Given the description of an element on the screen output the (x, y) to click on. 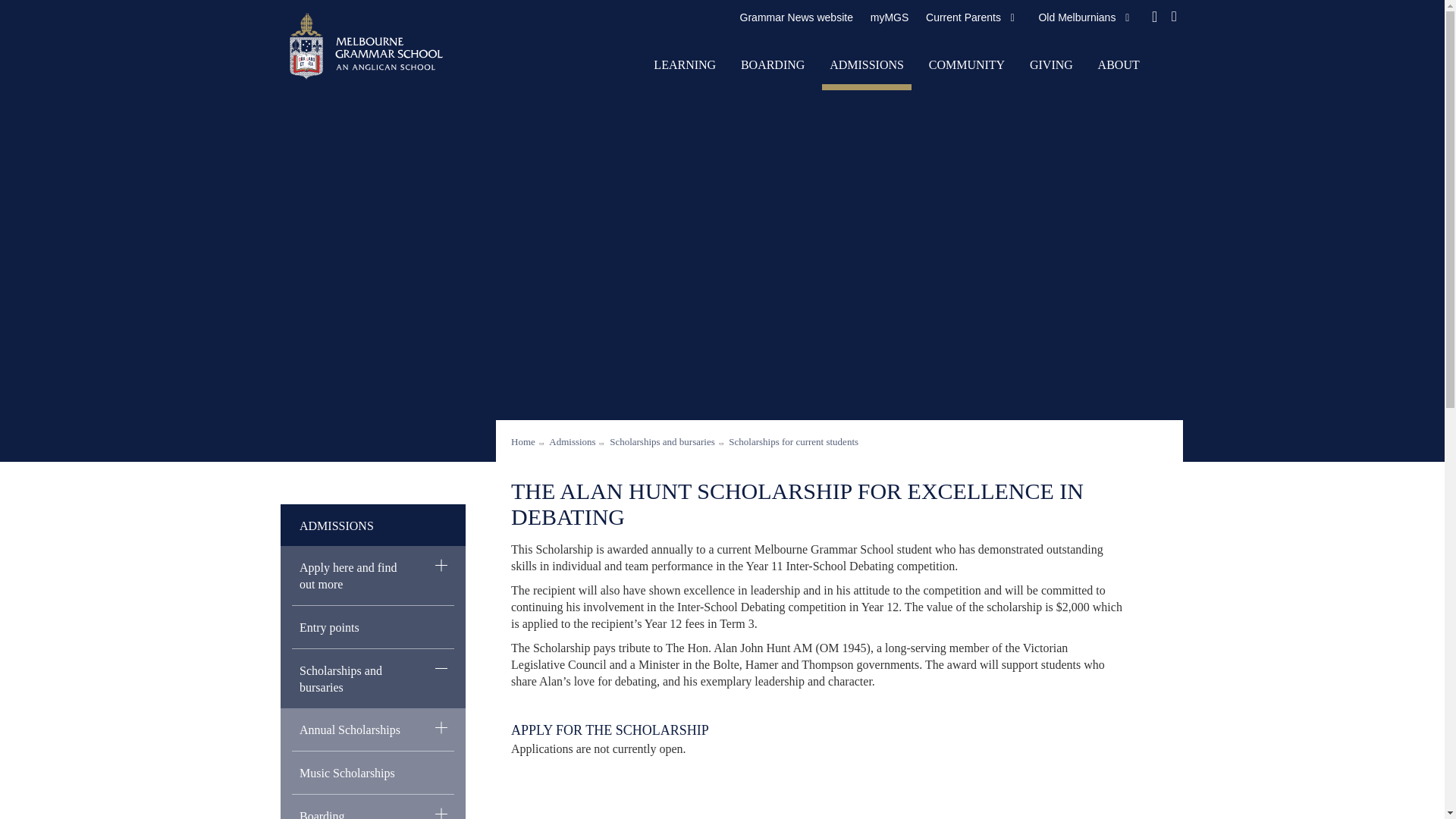
Grammar News website (796, 17)
Current Parents (961, 17)
Old Melburnians (1074, 17)
myMGS (889, 17)
LEARNING (684, 67)
Home (350, 25)
